Given the description of an element on the screen output the (x, y) to click on. 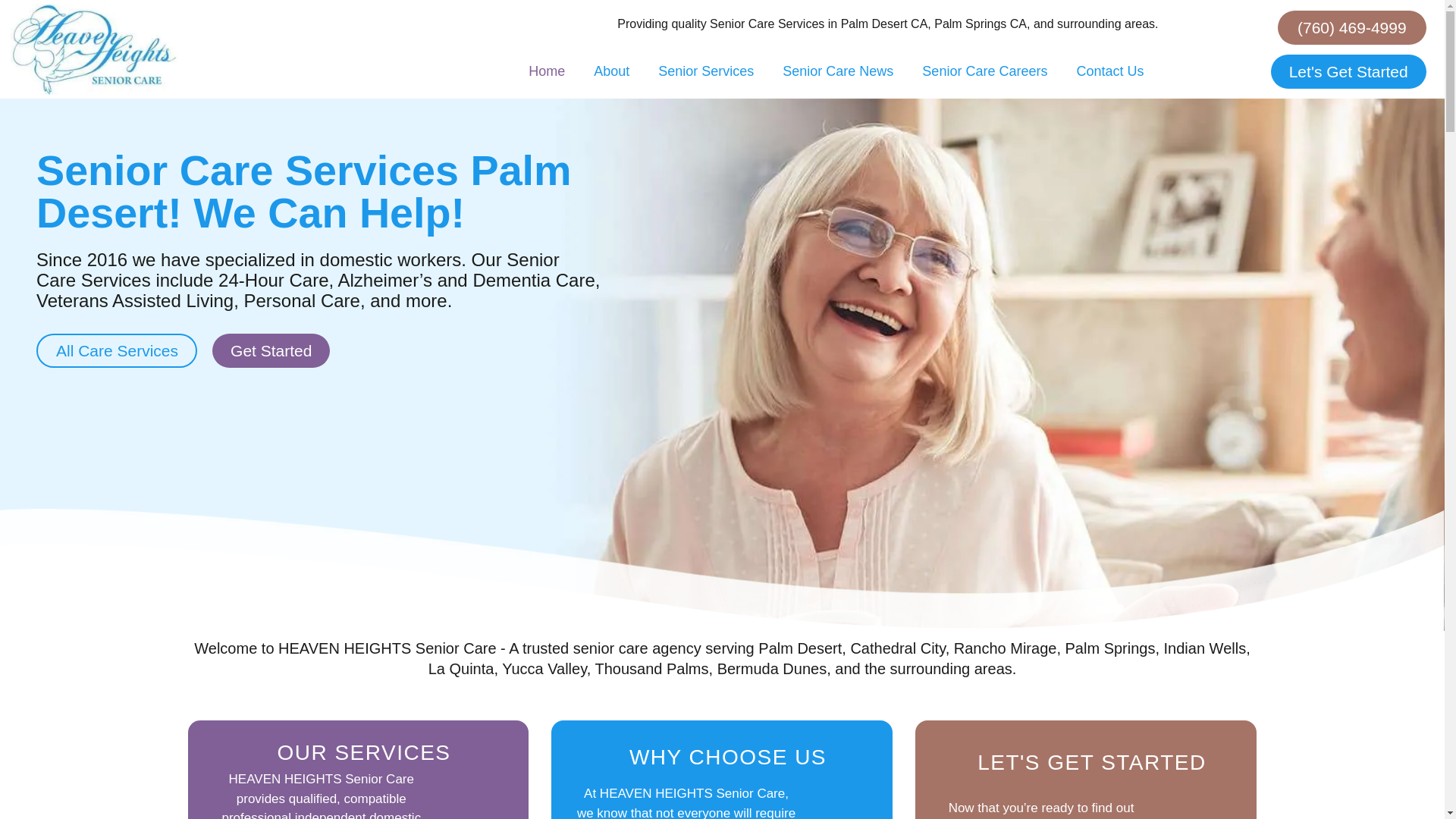
Home (546, 70)
Senior Care News (837, 70)
About (611, 70)
Let's Get Started (1348, 71)
Senior Services (705, 70)
Get Started (271, 350)
Senior Care Careers (984, 70)
Contact Us (1109, 70)
All Care Services (116, 350)
